Given the description of an element on the screen output the (x, y) to click on. 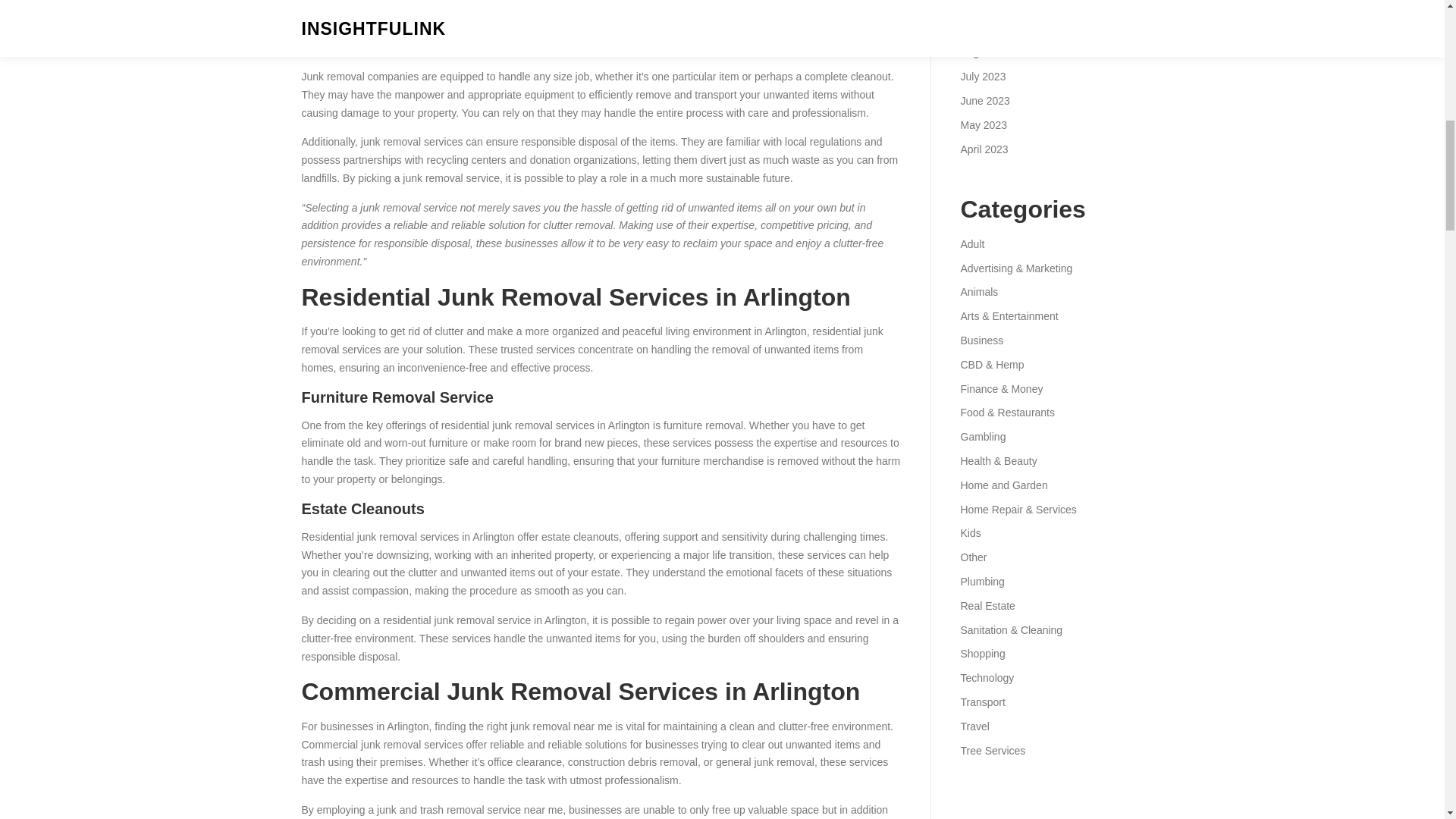
August 2023 (989, 76)
July 2023 (982, 101)
Adult (971, 268)
Animals (978, 316)
April 2023 (983, 173)
November 2023 (997, 5)
October 2023 (992, 28)
Business (981, 364)
September 2023 (999, 51)
May 2023 (982, 149)
June 2023 (984, 124)
